Given the description of an element on the screen output the (x, y) to click on. 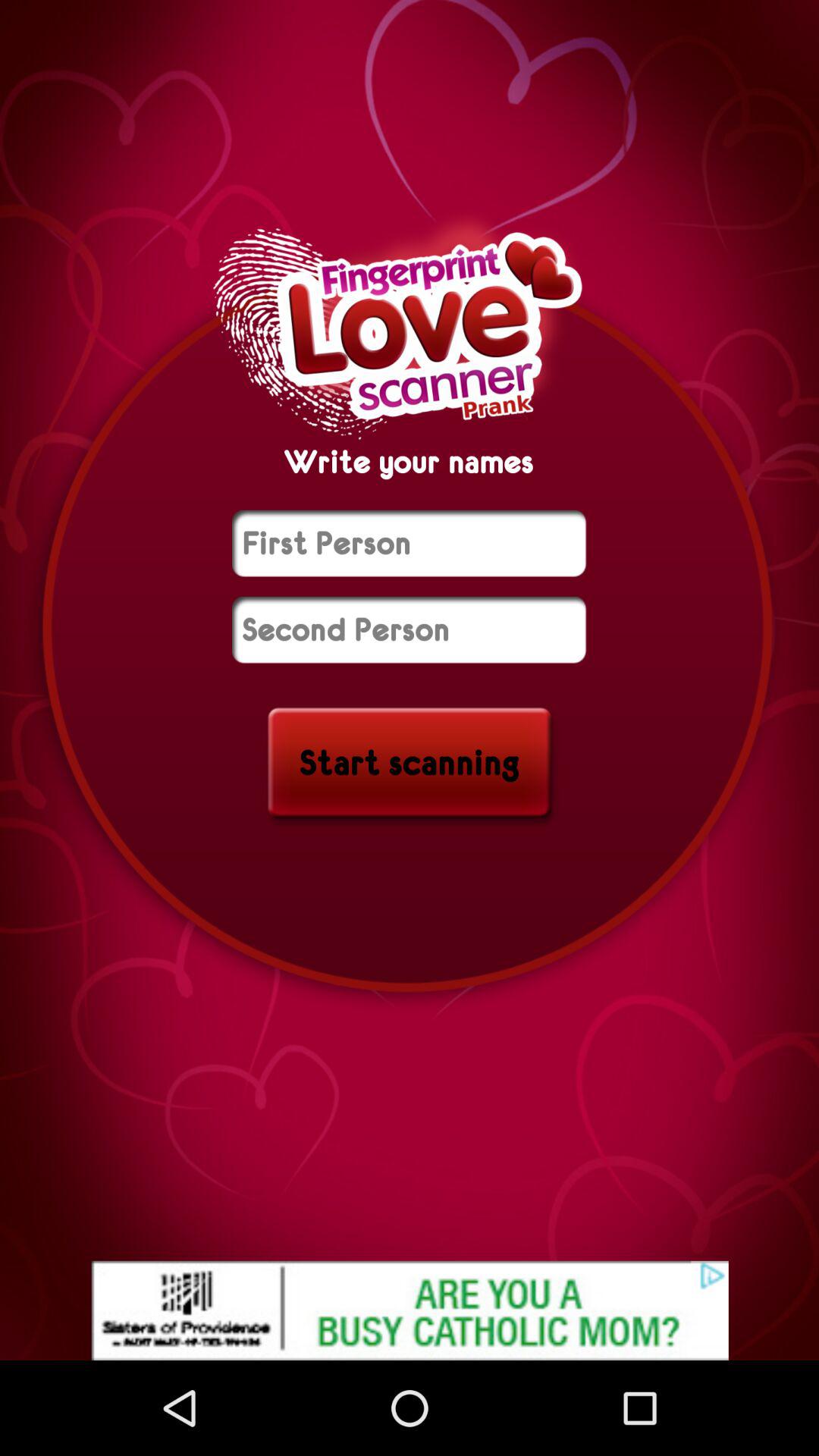
game page (409, 629)
